Given the description of an element on the screen output the (x, y) to click on. 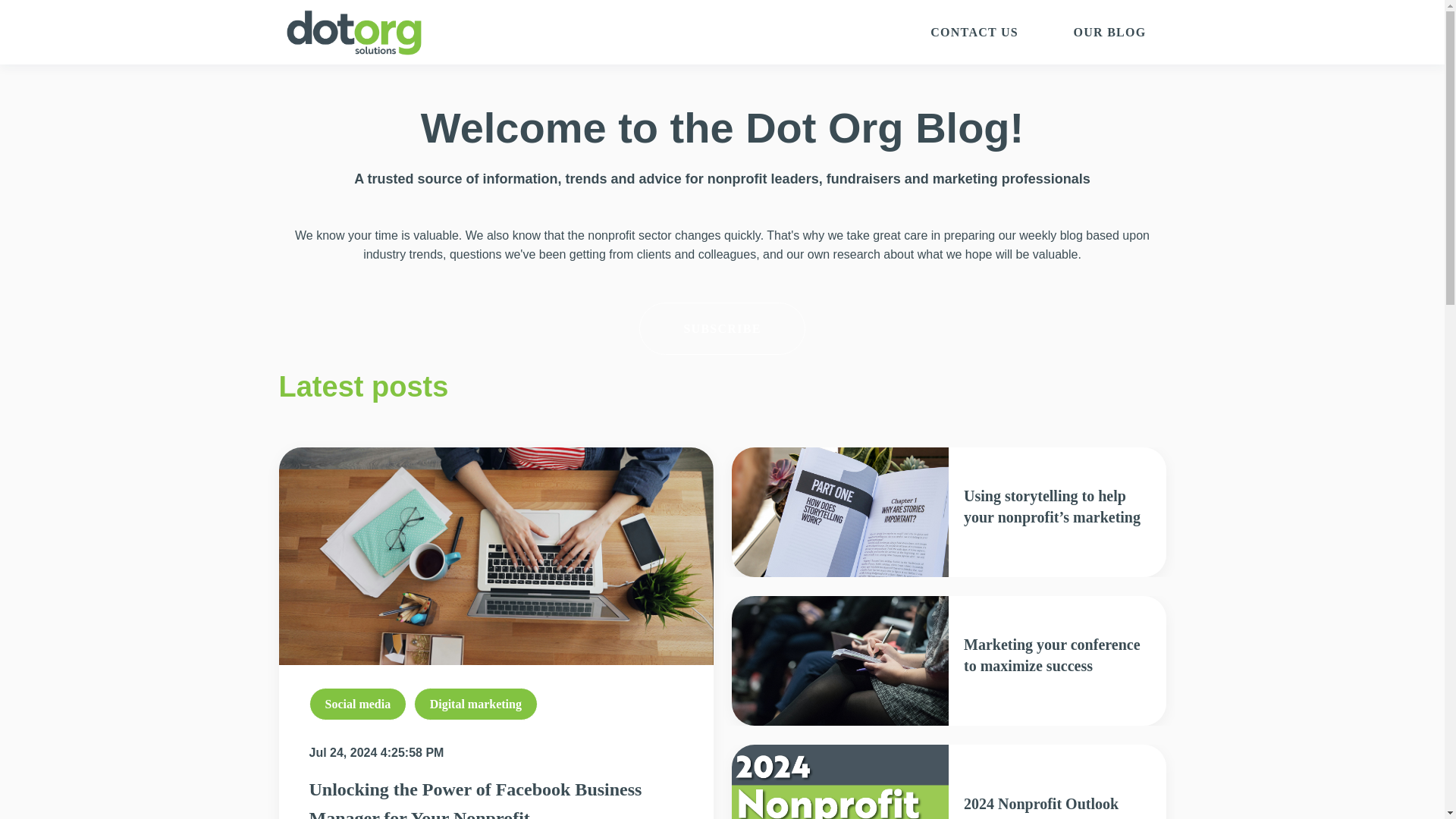
OUR BLOG (1109, 32)
Digital marketing (475, 704)
Marketing your conference to maximize success (1051, 655)
CONTACT US (974, 32)
Social media (357, 704)
2024 Nonprofit Outlook (1040, 803)
SUBSCRIBE (722, 328)
